Given the description of an element on the screen output the (x, y) to click on. 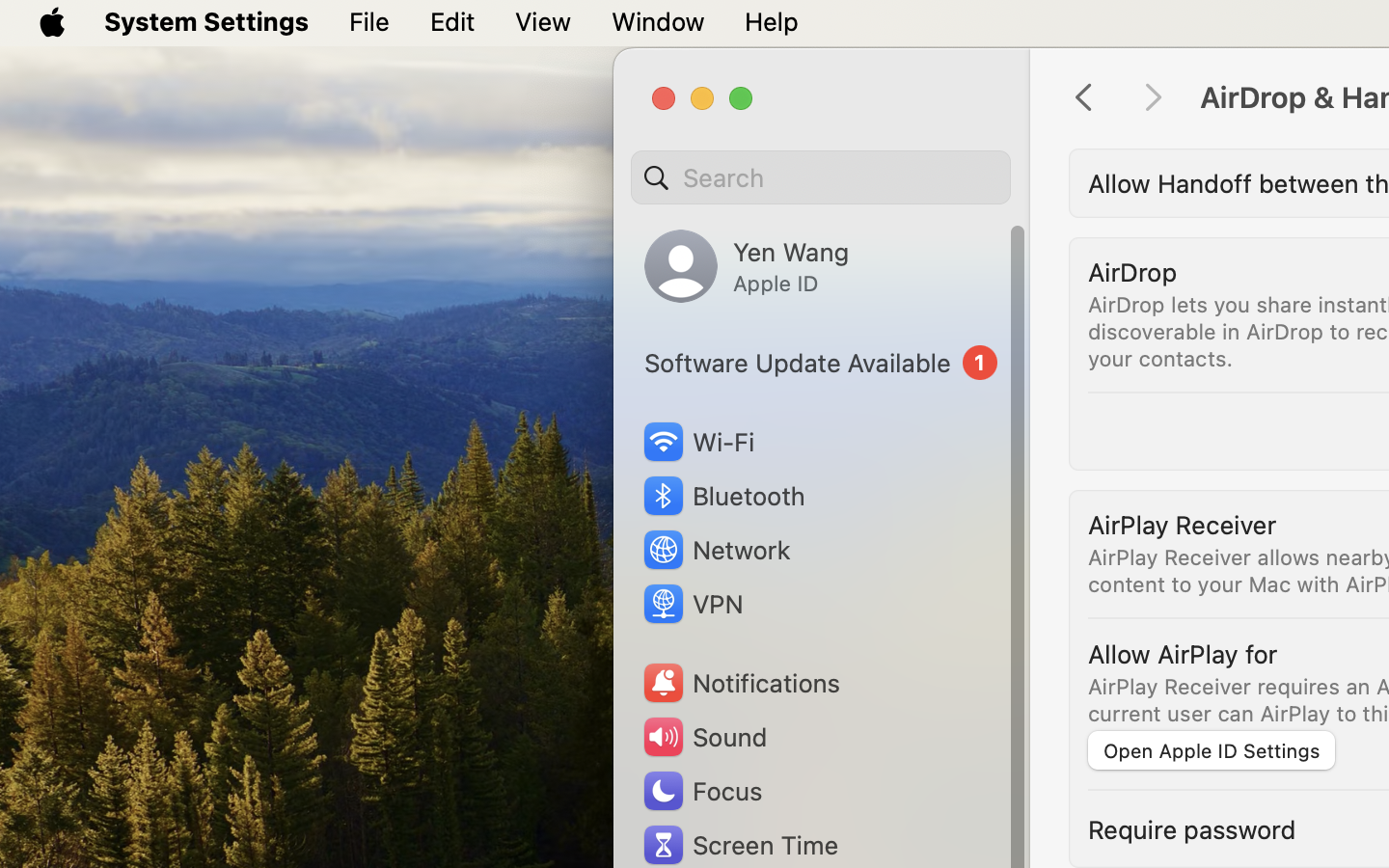
Yen Wang, Apple ID Element type: AXStaticText (746, 265)
Network Element type: AXStaticText (715, 549)
Focus Element type: AXStaticText (701, 790)
1 Element type: AXStaticText (820, 362)
